Given the description of an element on the screen output the (x, y) to click on. 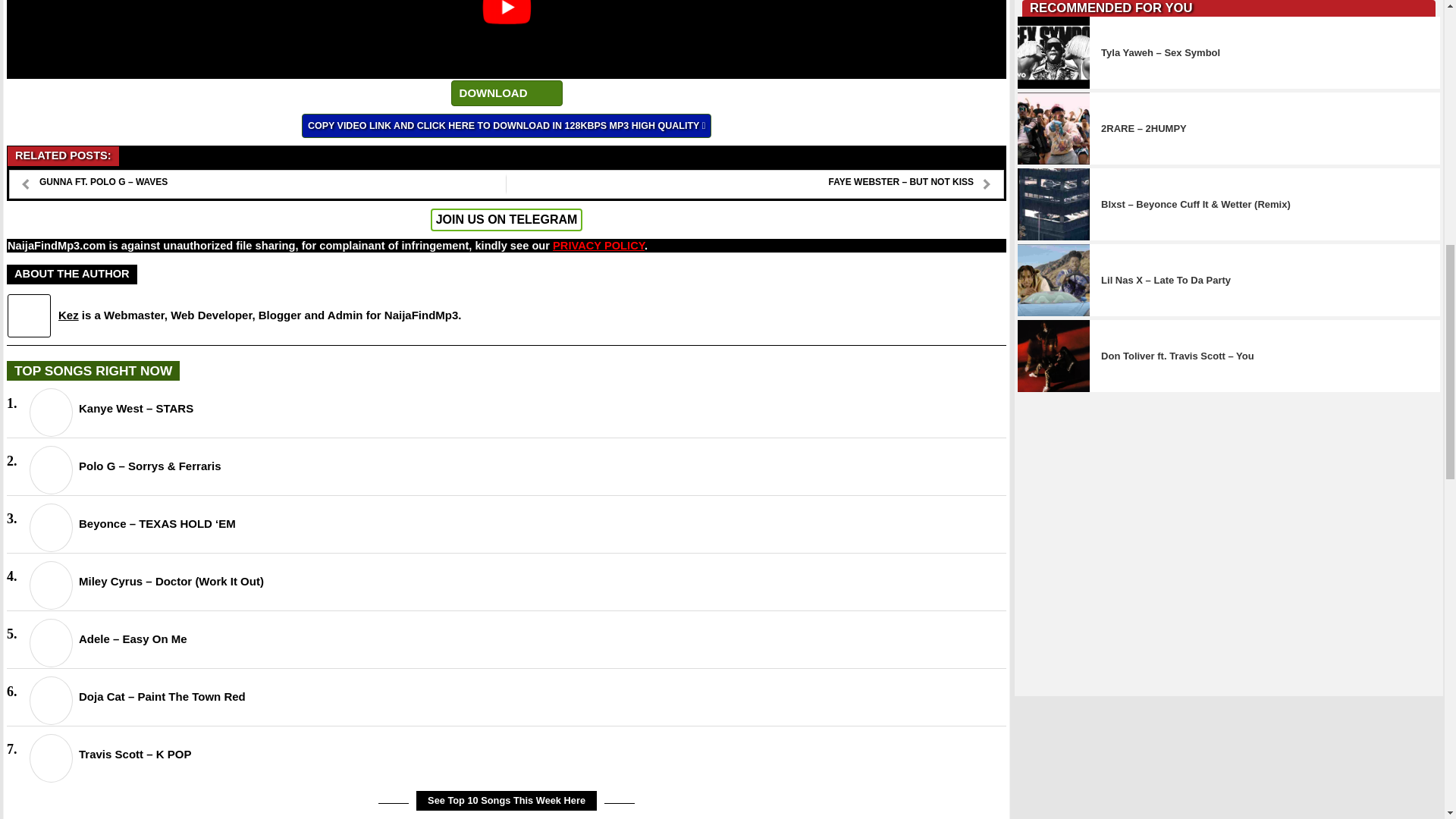
PRIVACY POLICY (599, 245)
DOWNLOAD (506, 93)
See Top 10 Songs This Week Here (506, 800)
JOIN US ON TELEGRAM (506, 219)
